Given the description of an element on the screen output the (x, y) to click on. 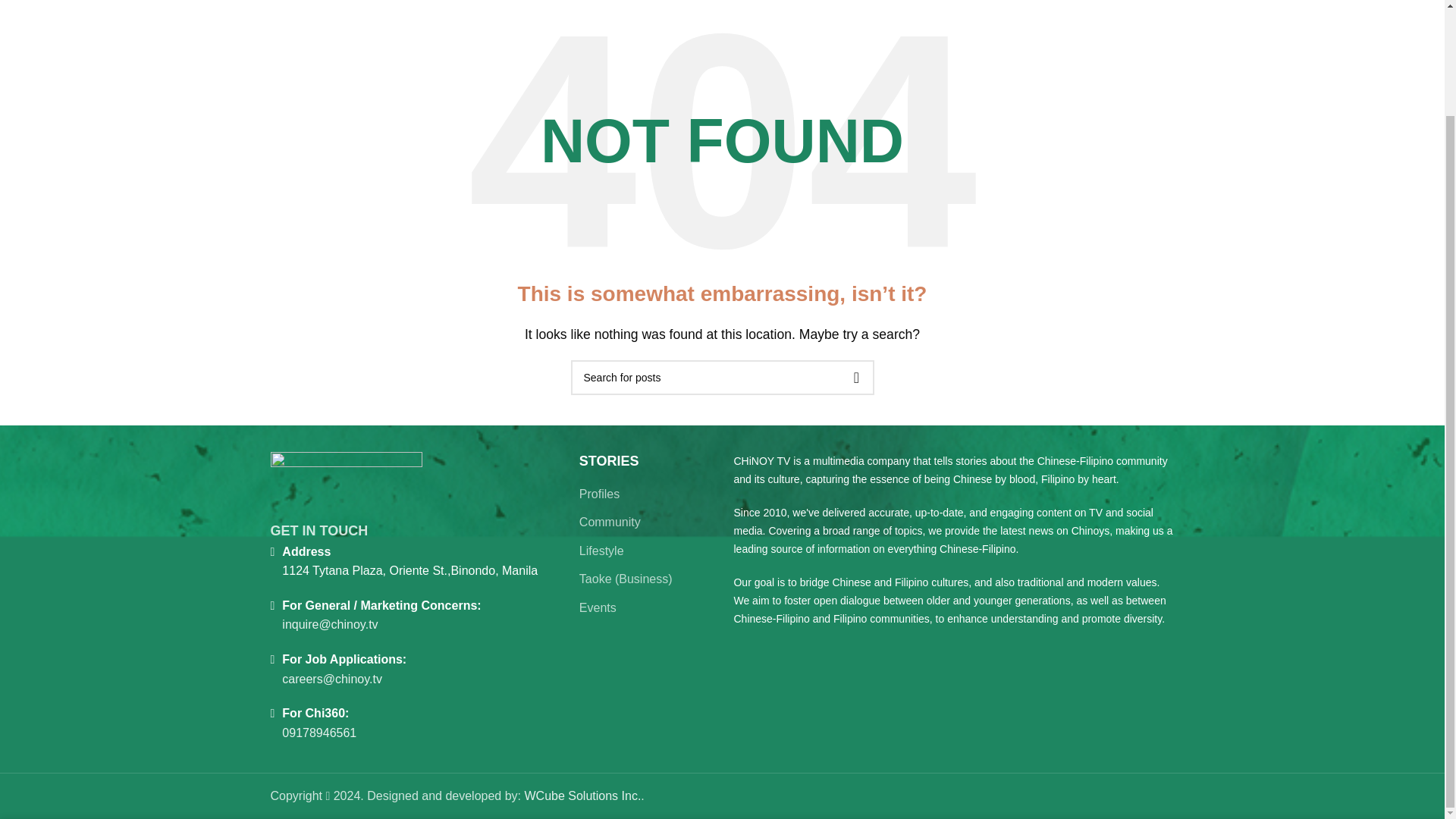
Community (610, 522)
Search for posts (721, 377)
Lifestyle (602, 550)
SEARCH (855, 377)
WCube Solutions Inc. (582, 795)
Events (598, 607)
09178946561 (319, 732)
Profiles (600, 494)
